Given the description of an element on the screen output the (x, y) to click on. 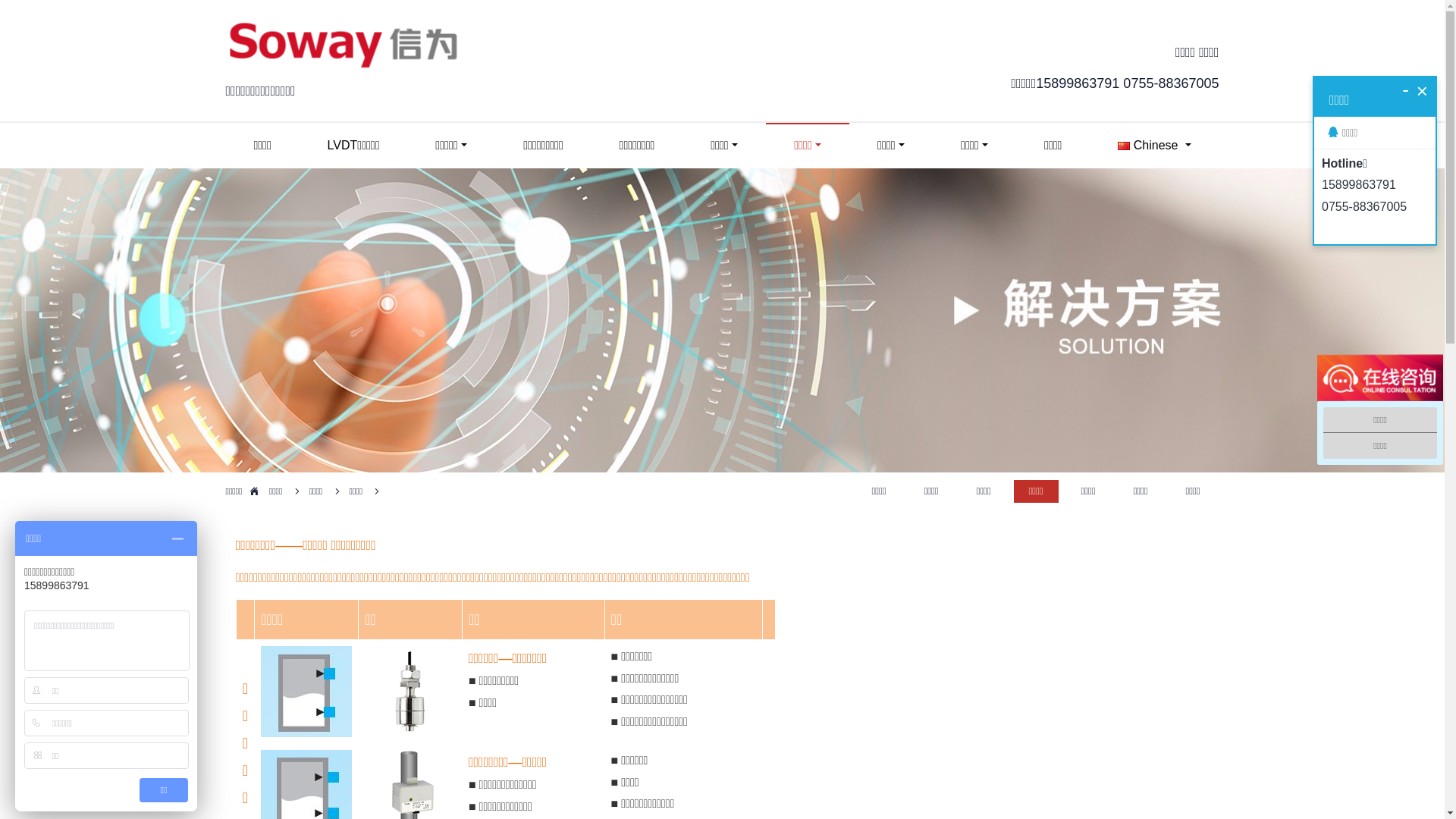
Chinese Element type: text (1153, 145)
- Element type: text (1405, 89)
